Given the description of an element on the screen output the (x, y) to click on. 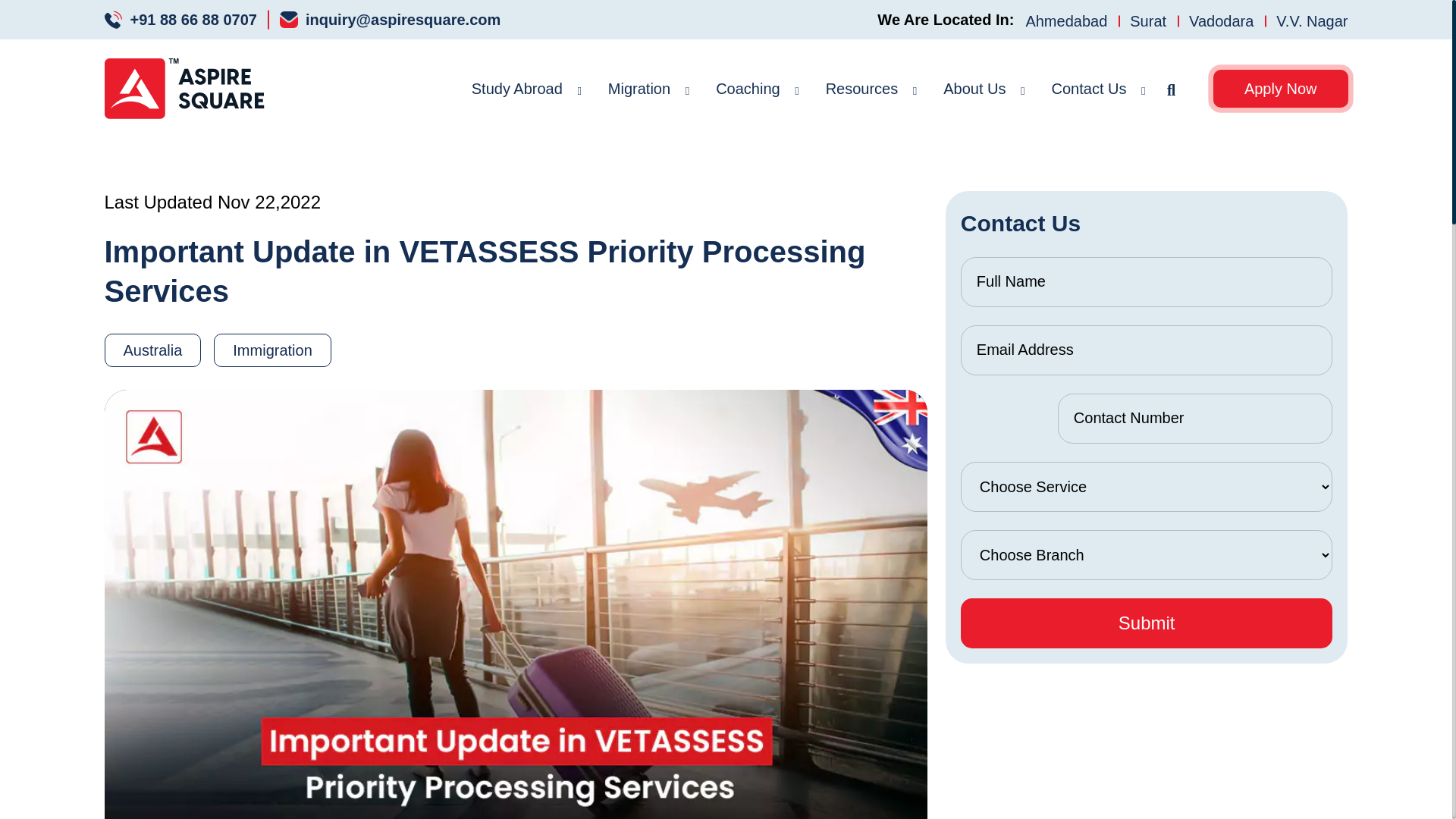
Migration (638, 88)
Ahmedabad (1065, 20)
V.V. Nagar (1306, 20)
Study Abroad (516, 88)
Surat (1147, 20)
Vadodara (1221, 20)
Submit (1146, 623)
